Given the description of an element on the screen output the (x, y) to click on. 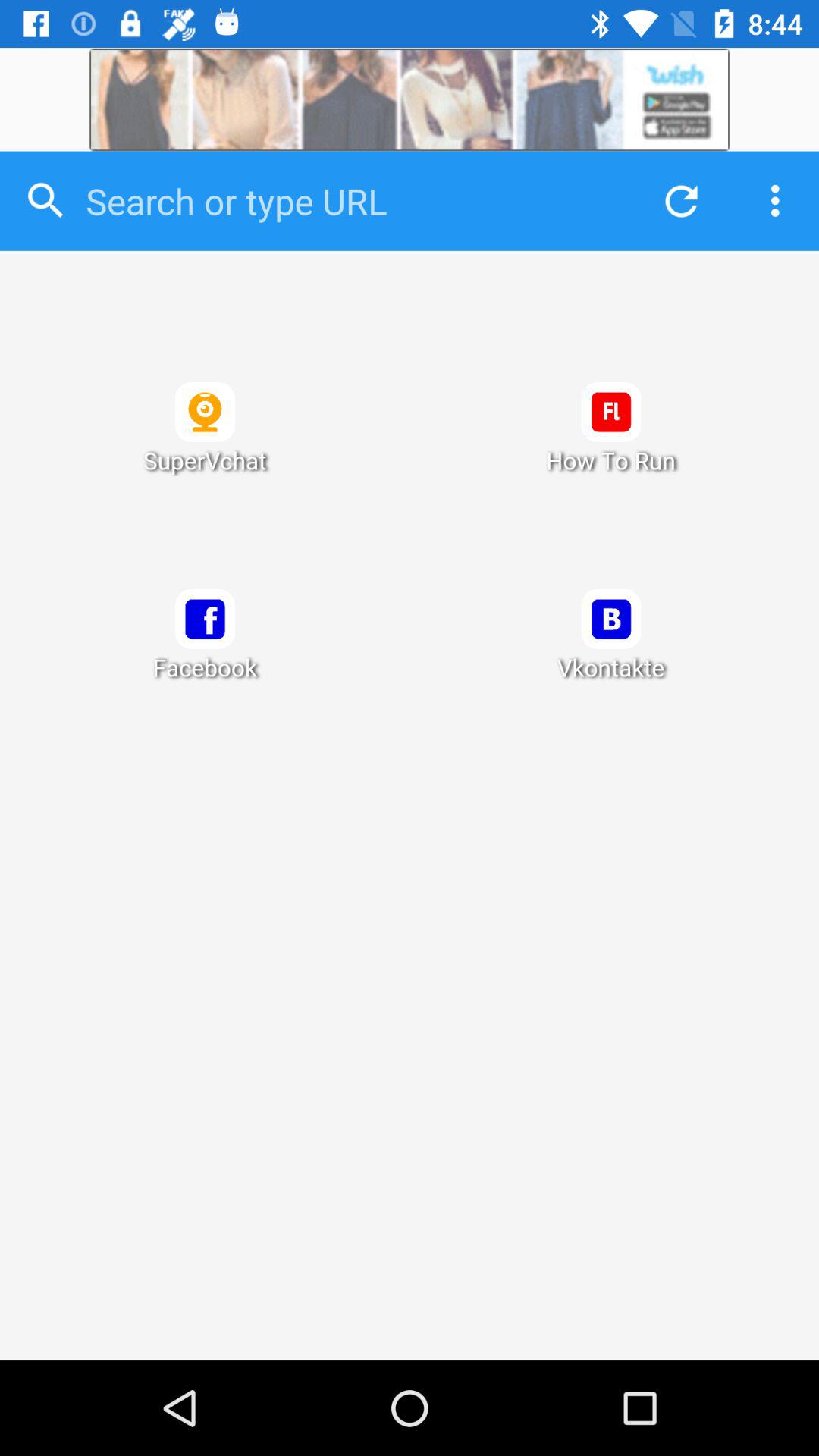
search results (409, 805)
